Given the description of an element on the screen output the (x, y) to click on. 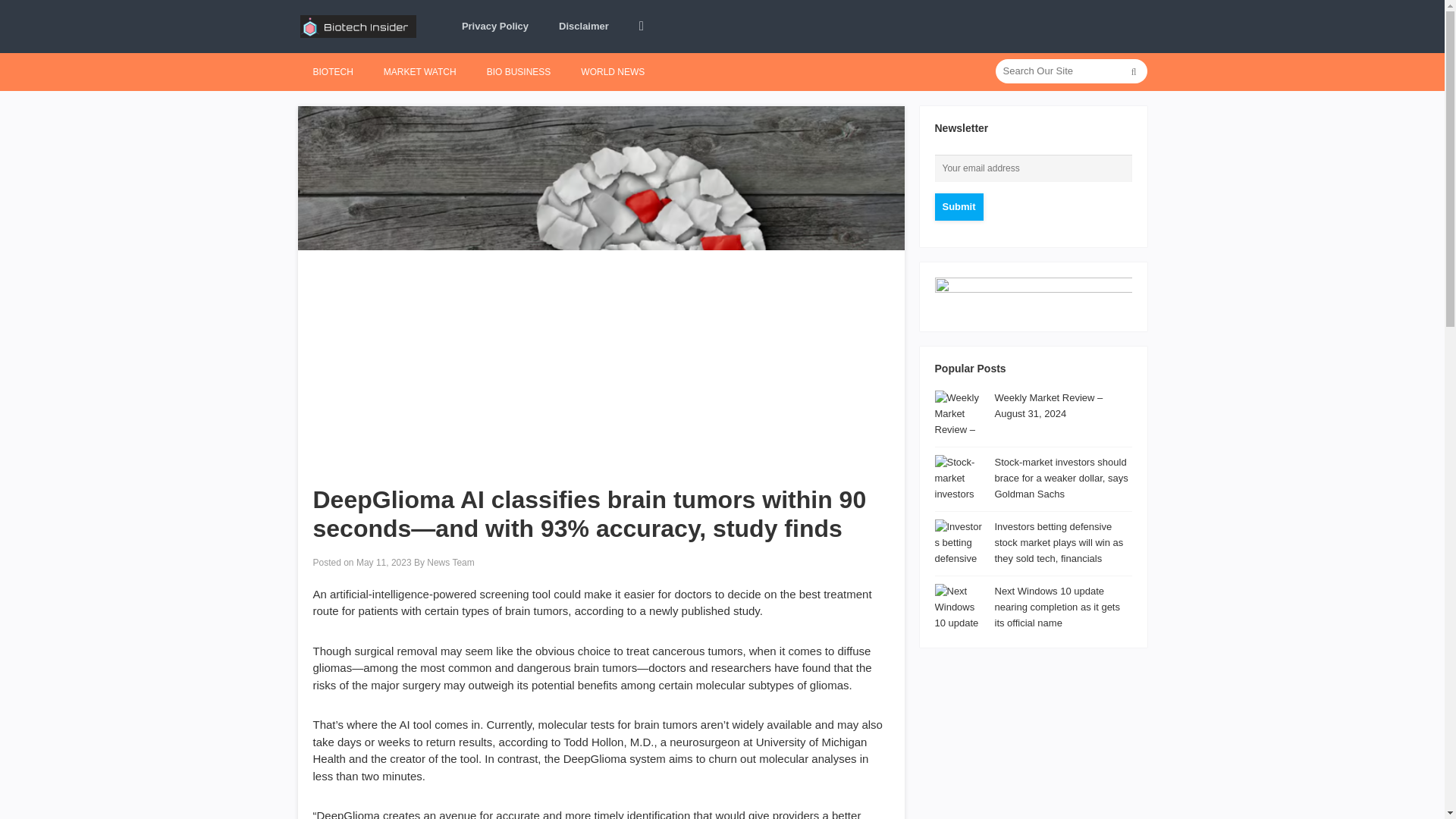
BIO BUSINESS (518, 71)
Submit (958, 206)
Privacy Policy (494, 26)
BIOTECH (332, 71)
Submit (958, 206)
Disclaimer (583, 26)
WORLD NEWS (612, 71)
